Given the description of an element on the screen output the (x, y) to click on. 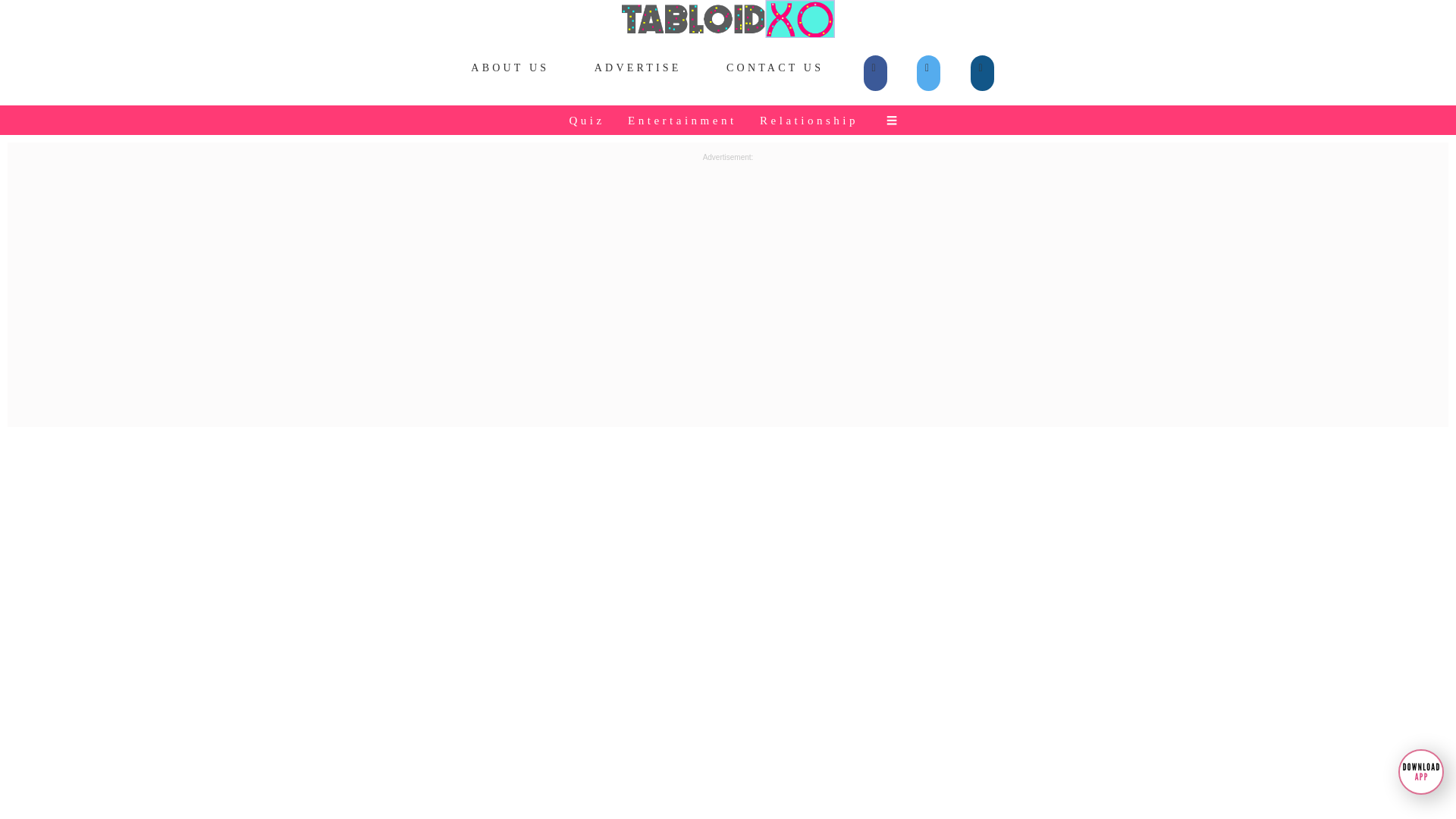
CONTACT US (775, 67)
ABOUT US (509, 67)
Quiz (587, 120)
Entertainment (682, 120)
ADVERTISE (637, 67)
Relationship (809, 120)
